Given the description of an element on the screen output the (x, y) to click on. 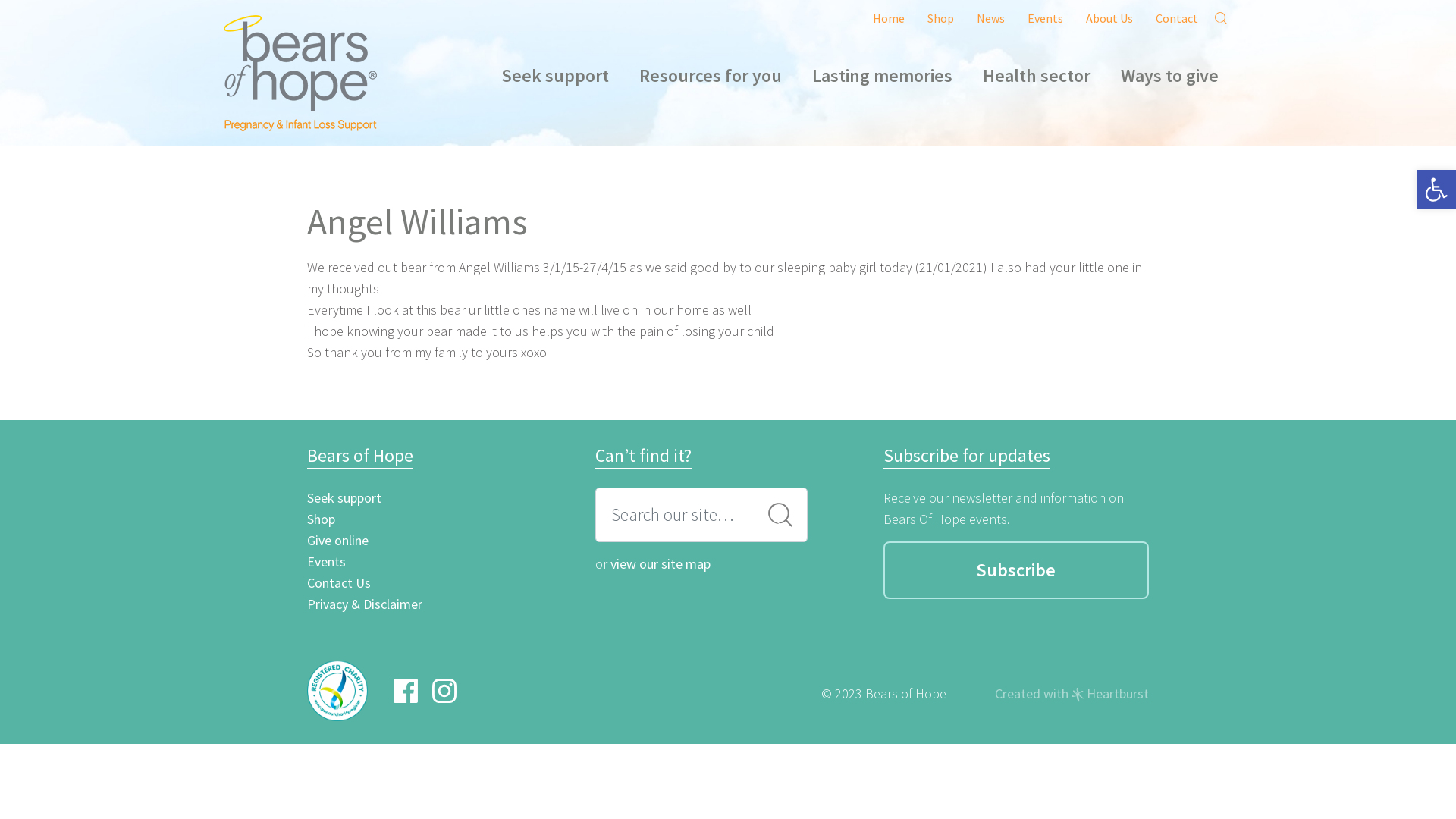
view our site map Element type: text (660, 563)
About Us Element type: text (1109, 17)
Health sector Element type: text (1036, 75)
Give online Element type: text (337, 540)
Ways to give Element type: text (1169, 75)
Shop Element type: text (940, 17)
Contact Element type: text (1176, 17)
Subscribe Element type: text (1015, 570)
Site Search Element type: text (1220, 17)
Events Element type: text (1045, 17)
Contact Us Element type: text (338, 582)
Privacy & Disclaimer Element type: text (364, 603)
Seek support Element type: text (344, 497)
Home Element type: text (888, 17)
Search Element type: text (780, 514)
Created with Heartburst Element type: text (1071, 693)
Resources for you Element type: text (710, 75)
Lasting memories Element type: text (882, 75)
Events Element type: text (326, 561)
News Element type: text (990, 17)
Shop Element type: text (321, 518)
Seek support Element type: text (555, 75)
